Given the description of an element on the screen output the (x, y) to click on. 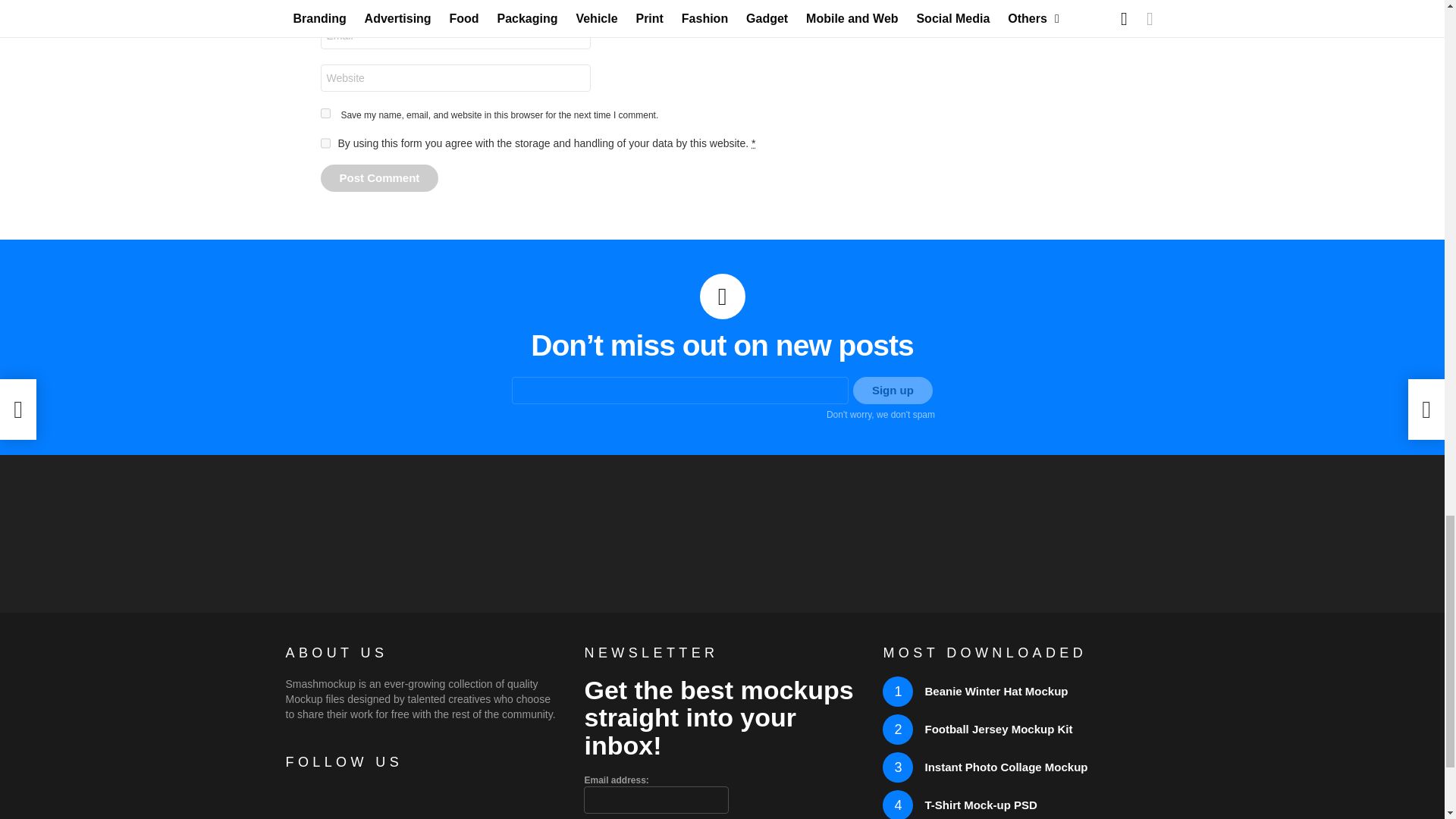
1 (325, 143)
yes (325, 112)
Post Comment (379, 177)
Sign up (893, 390)
